Given the description of an element on the screen output the (x, y) to click on. 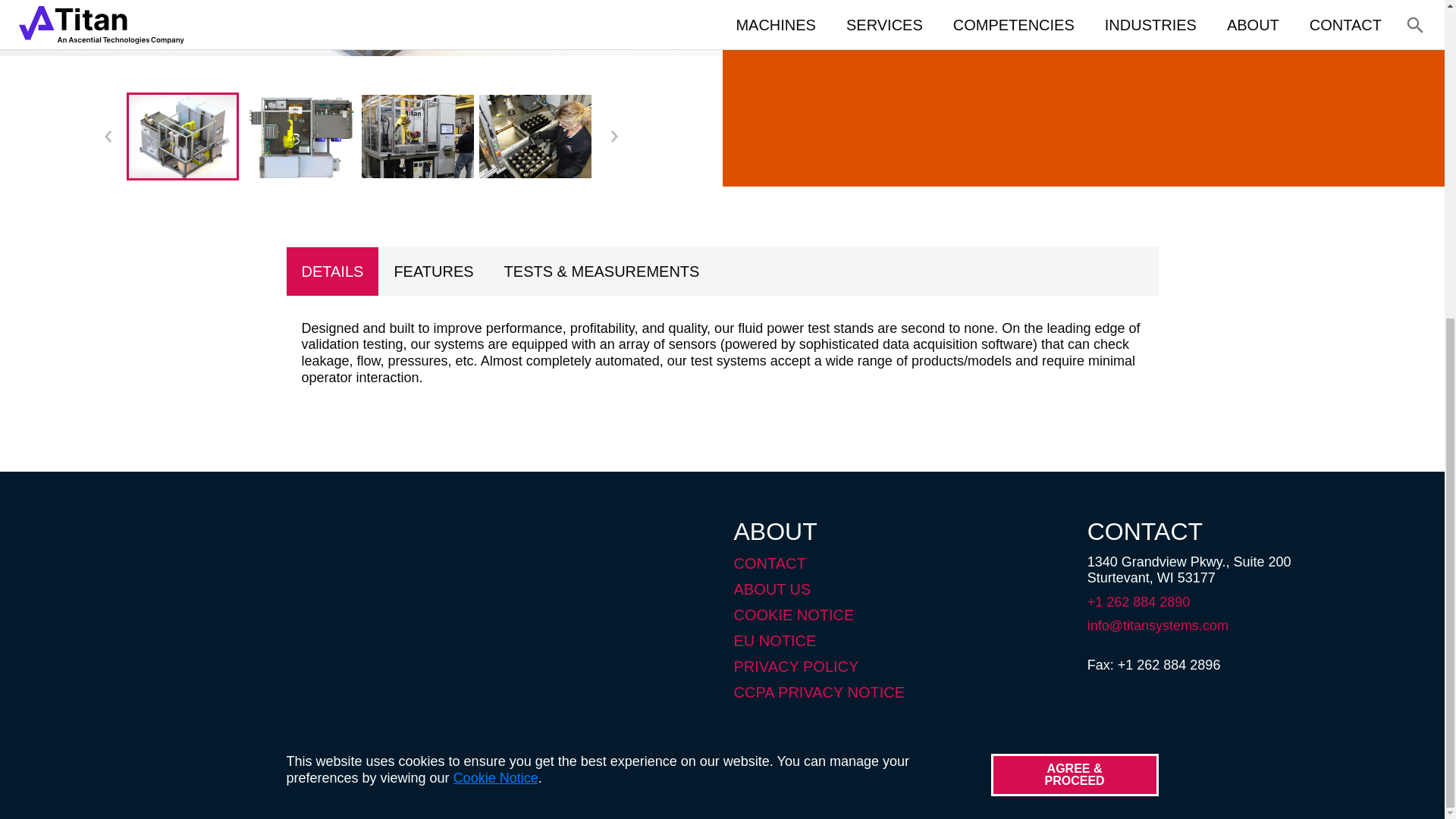
Cookie Notice (495, 263)
